Given the description of an element on the screen output the (x, y) to click on. 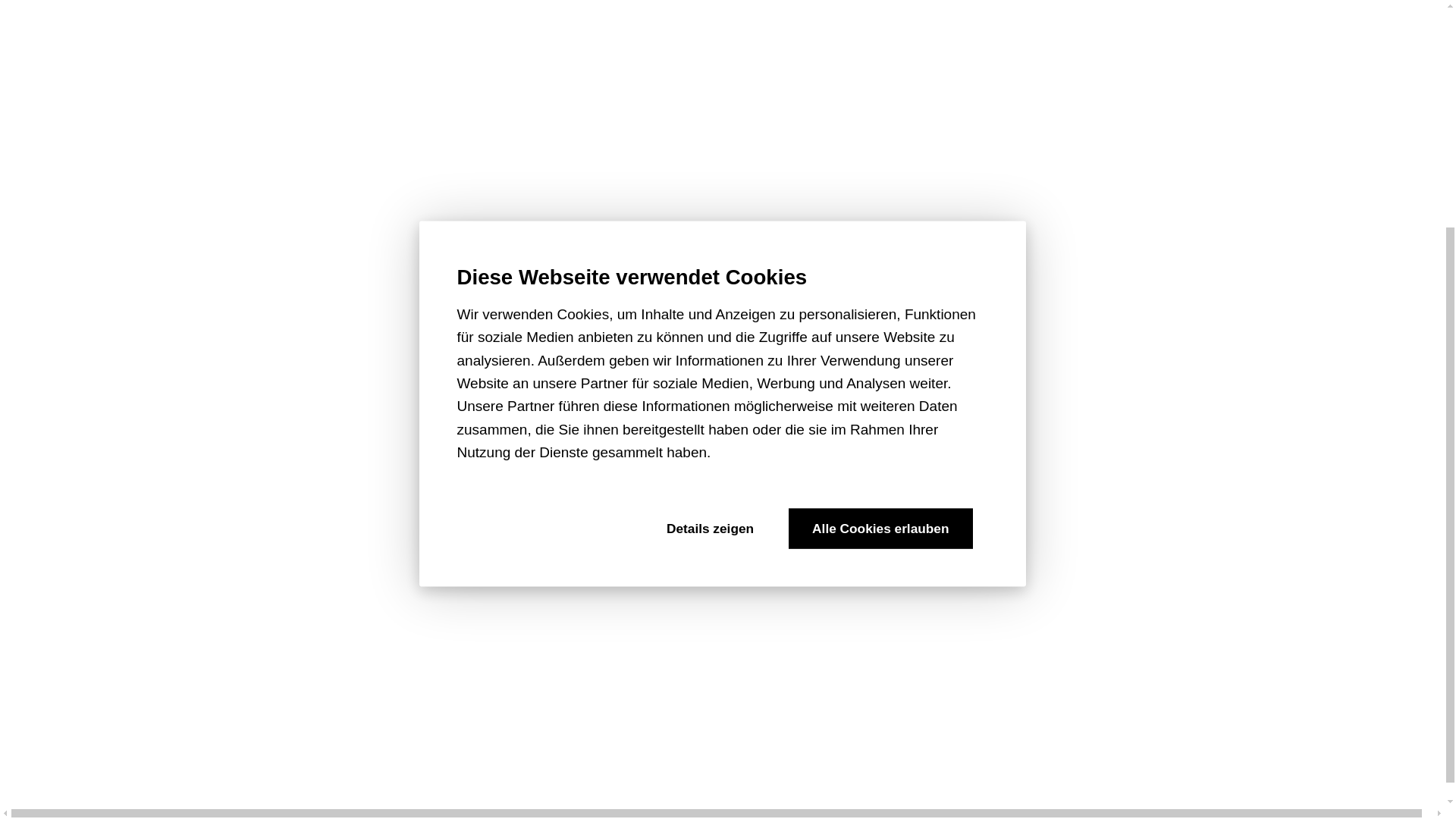
Details zeigen (710, 213)
home (31, 513)
downloads (151, 426)
Alle Cookies erlauben (880, 213)
Logo (151, 467)
